Given the description of an element on the screen output the (x, y) to click on. 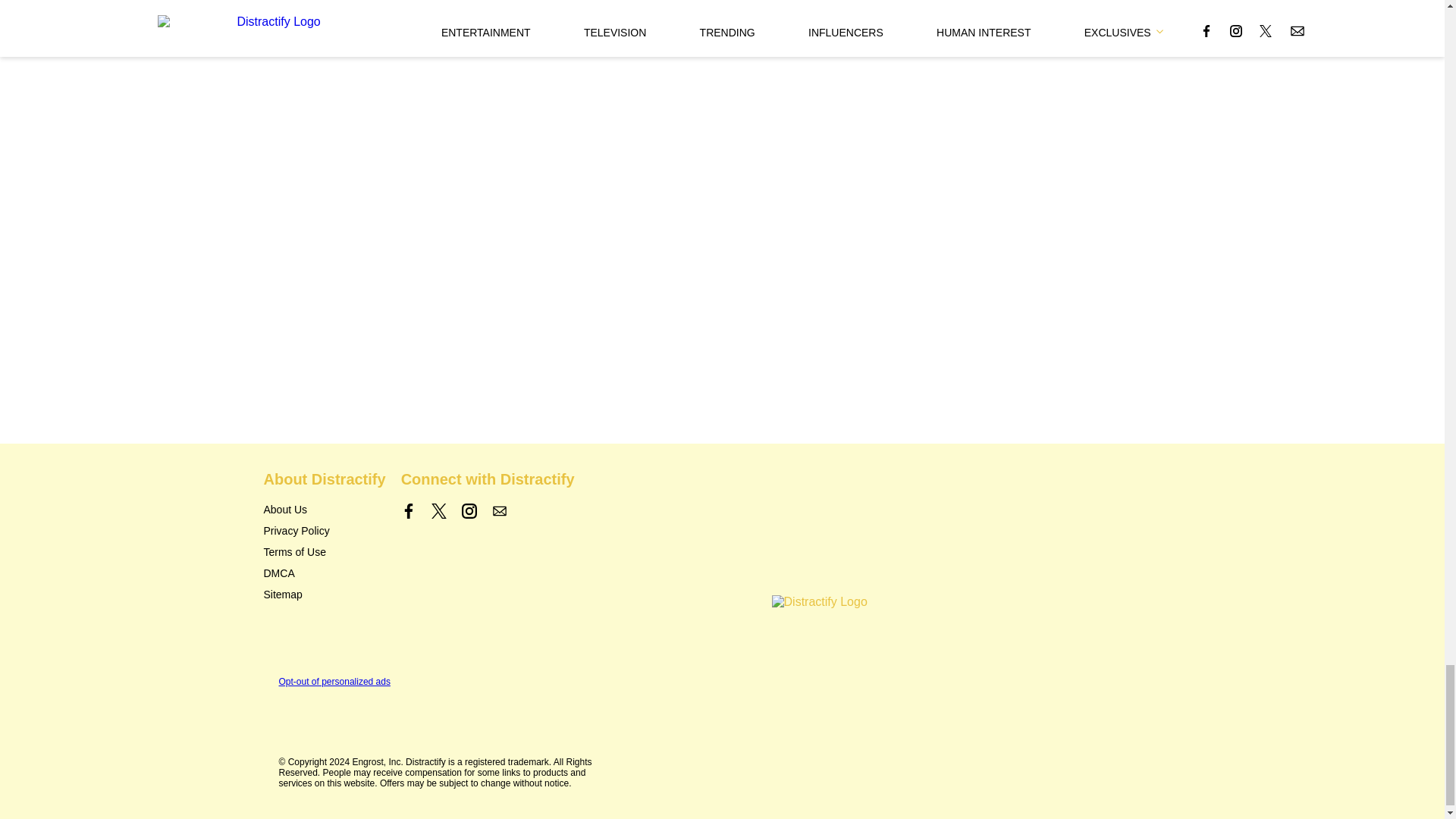
Link to X (438, 510)
Terms of Use (294, 551)
Privacy Policy (296, 530)
Contact us by Email (499, 510)
Sitemap (282, 594)
Link to Facebook (408, 510)
Privacy Policy (296, 530)
DMCA (279, 573)
Link to Instagram (469, 510)
DMCA (279, 573)
